Given the description of an element on the screen output the (x, y) to click on. 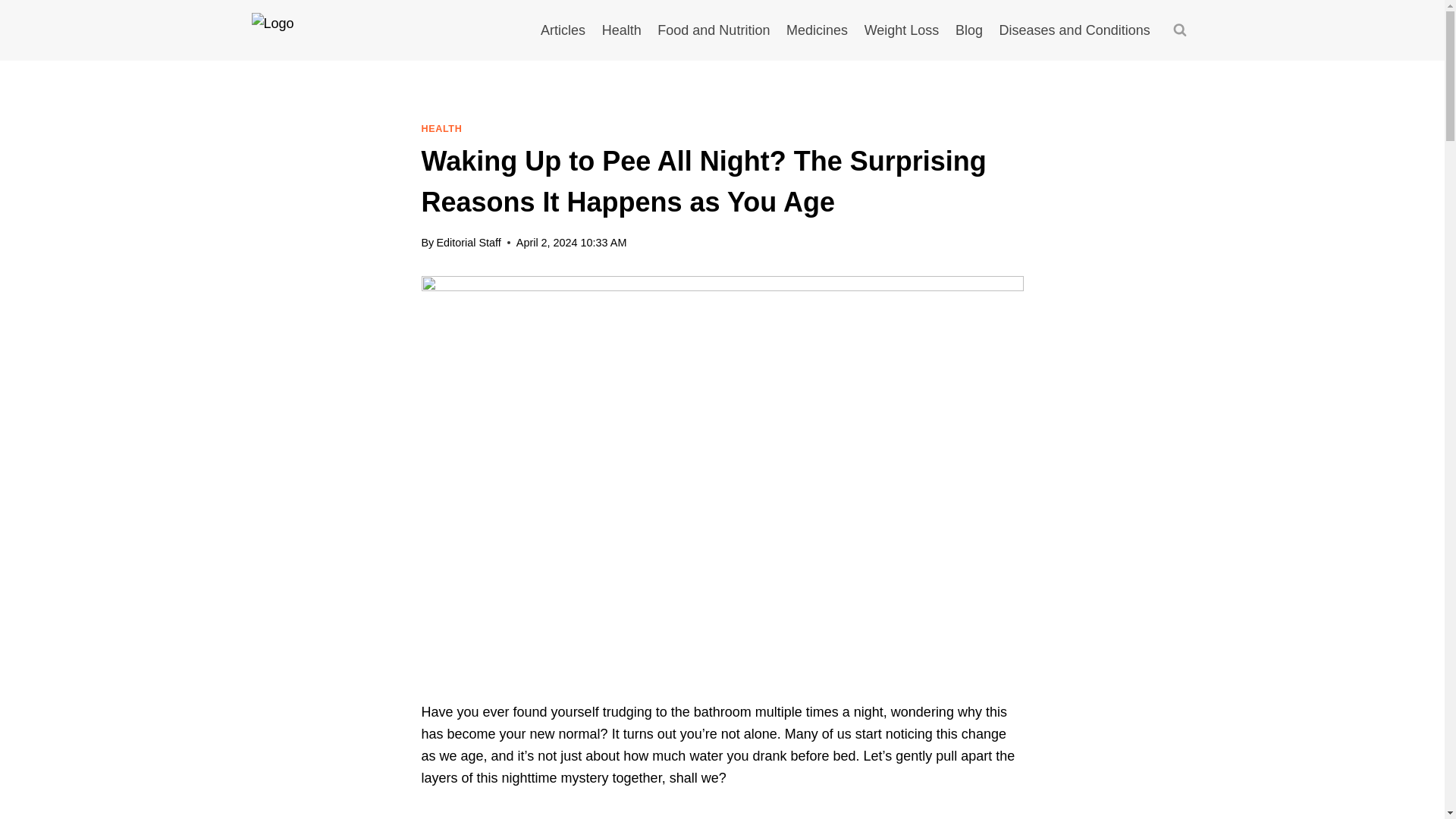
Diseases and Conditions (1074, 30)
Weight Loss (901, 30)
Articles (563, 30)
Medicines (816, 30)
Editorial Staff (467, 242)
HEALTH (442, 128)
Health (621, 30)
Blog (969, 30)
Food and Nutrition (713, 30)
